Given the description of an element on the screen output the (x, y) to click on. 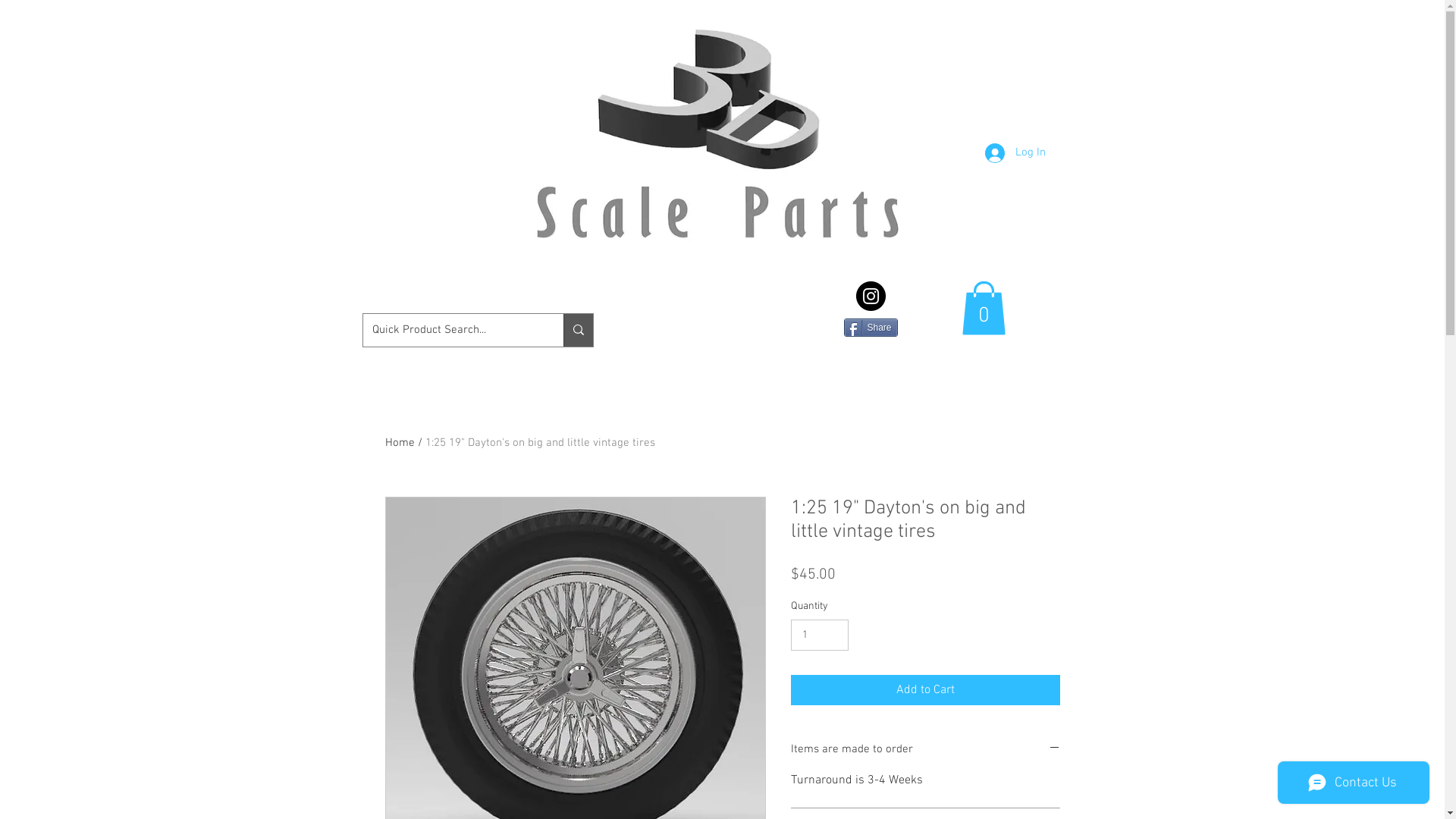
0 Element type: text (983, 308)
Share Element type: text (870, 327)
1:25 19" Dayton's on big and little vintage tires Element type: text (539, 442)
Log In Element type: text (1014, 152)
Items are made to order Element type: text (924, 749)
Home Element type: text (399, 442)
Add to Cart Element type: text (924, 689)
